Given the description of an element on the screen output the (x, y) to click on. 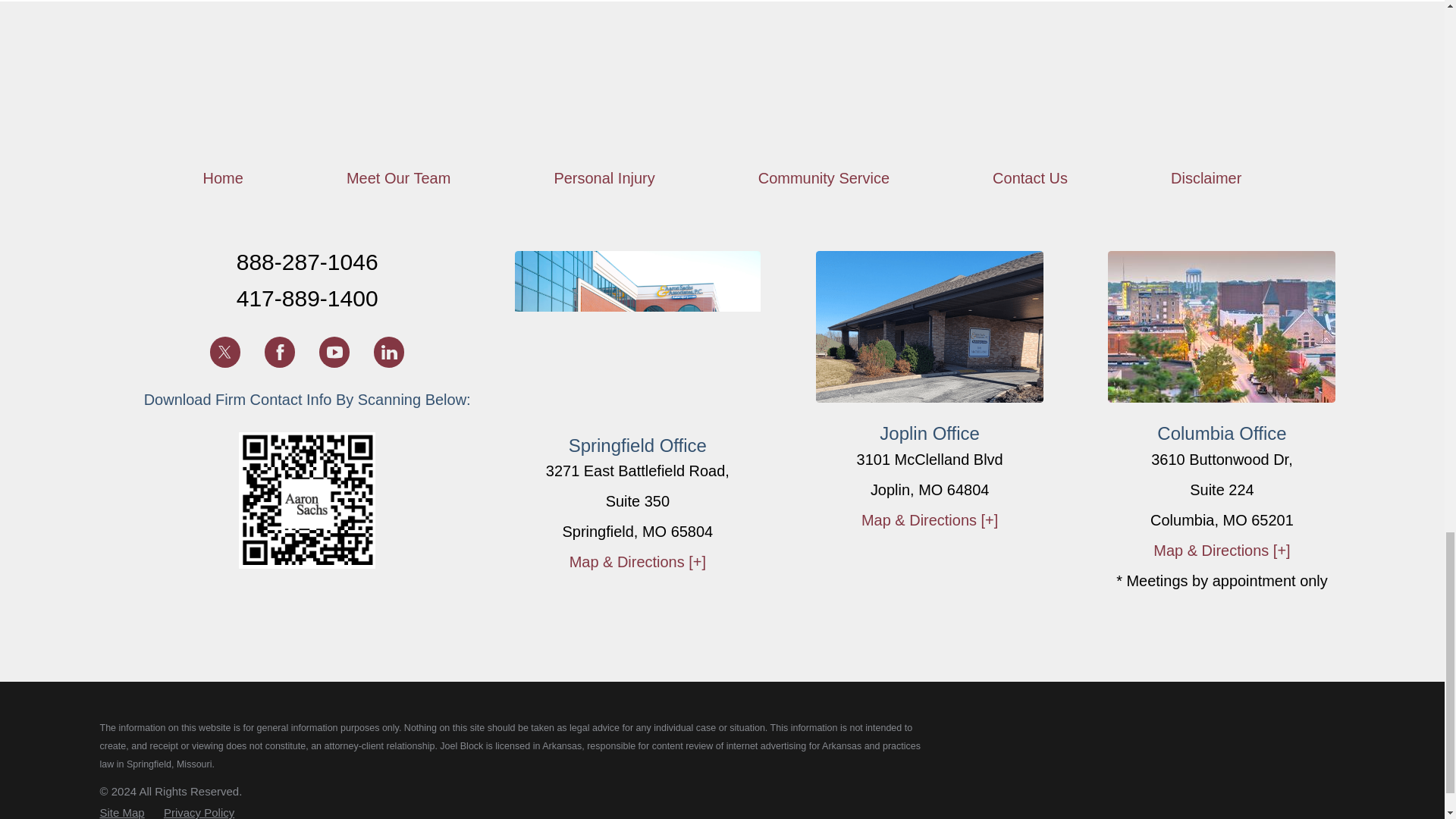
YouTube (333, 351)
Twitter (224, 351)
LinkedIn (389, 351)
Facebook (279, 351)
